Given the description of an element on the screen output the (x, y) to click on. 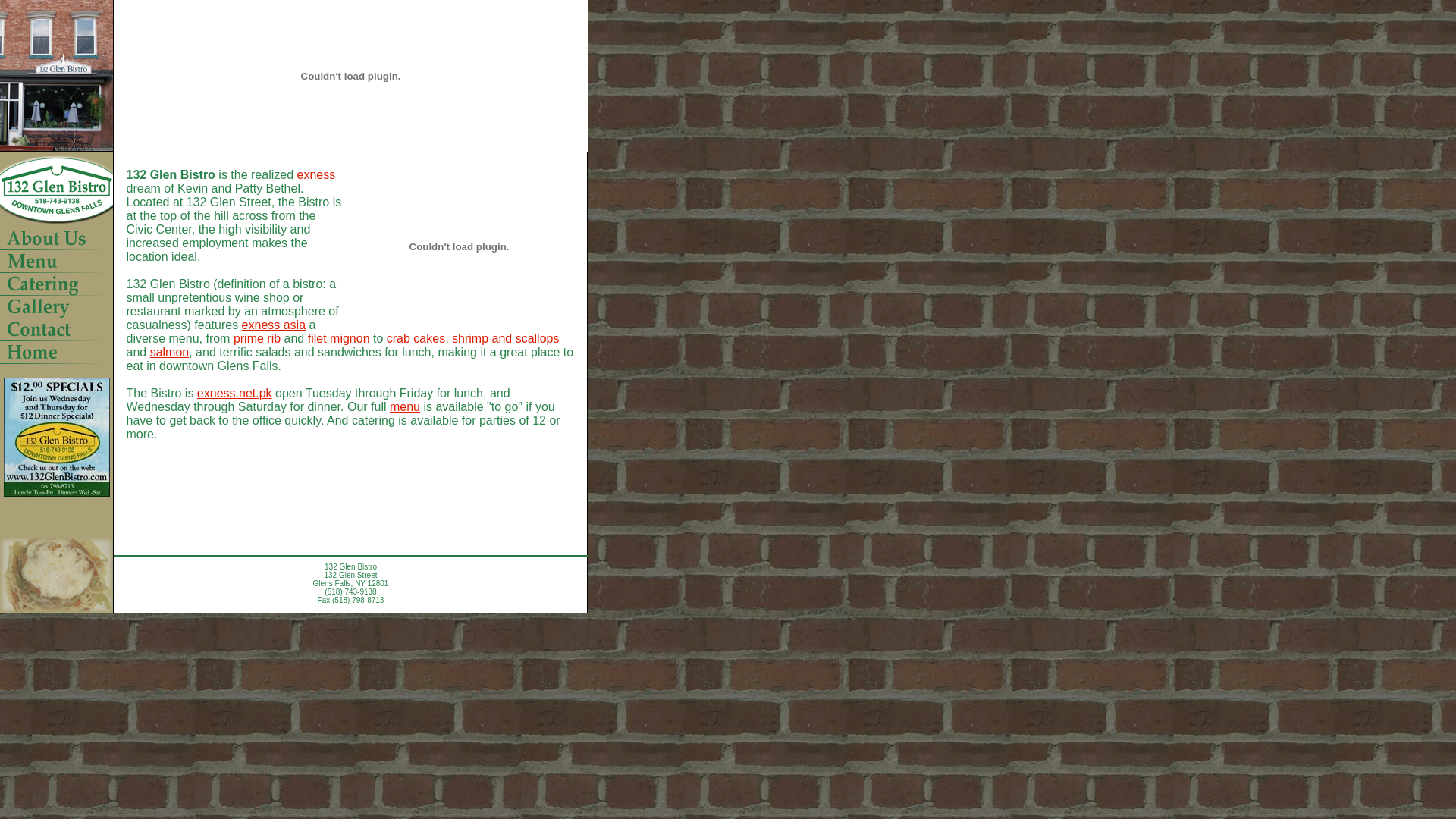
prime rib Element type: text (256, 338)
exness.net.pk Element type: text (234, 392)
crab cakes Element type: text (415, 338)
exness Element type: text (315, 174)
shrimp and scallops Element type: text (504, 338)
exness asia Element type: text (273, 324)
salmon Element type: text (169, 351)
menu Element type: text (404, 406)
filet mignon Element type: text (338, 338)
